Given the description of an element on the screen output the (x, y) to click on. 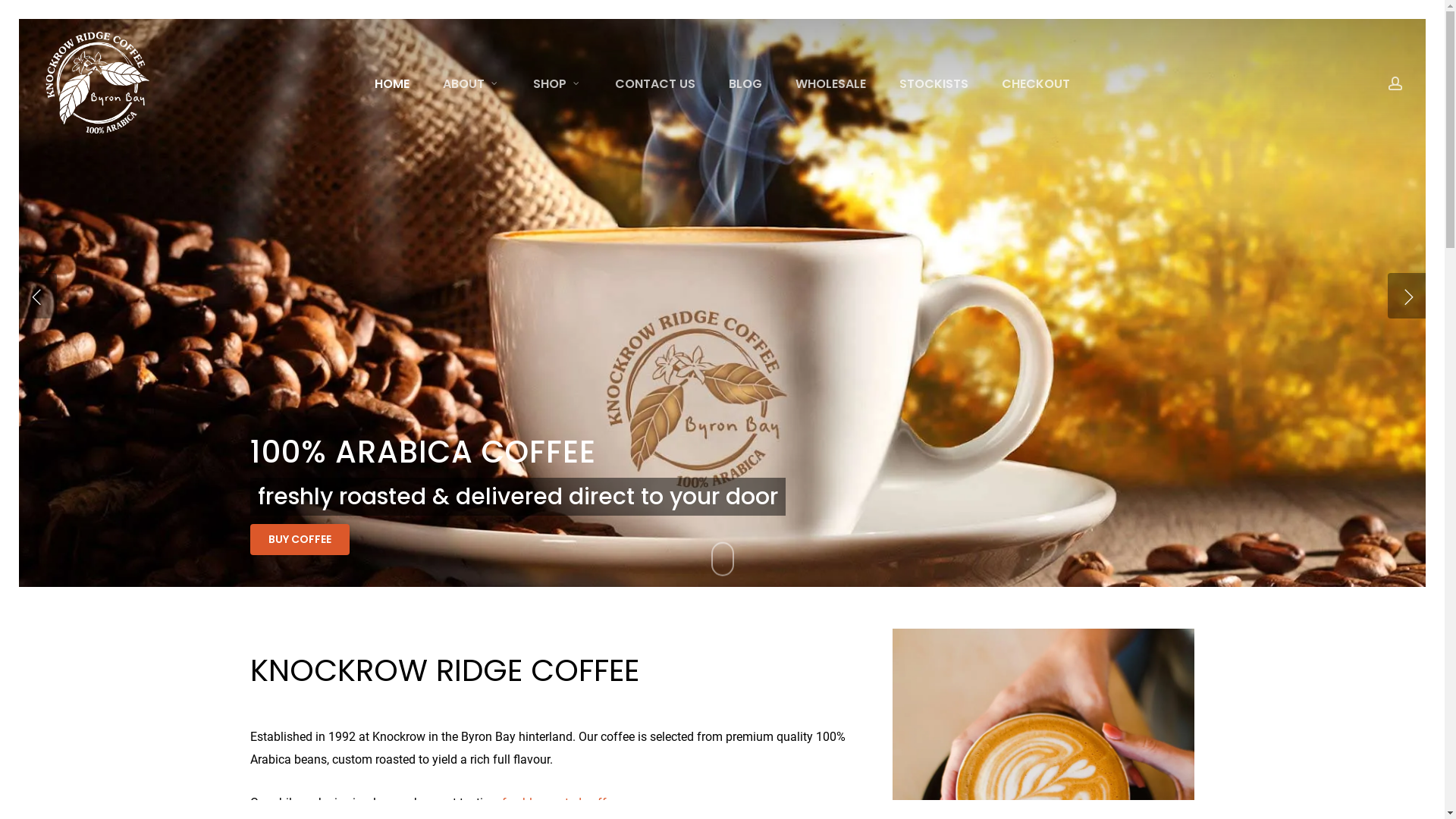
HOME Element type: text (391, 83)
ABOUT Element type: text (471, 83)
account Element type: text (1395, 83)
freshly roasted coffee Element type: text (560, 802)
SHOP Element type: text (557, 83)
BLOG Element type: text (745, 83)
CONTACT US Element type: text (655, 83)
STOCKISTS Element type: text (933, 83)
0 Element type: text (1419, 90)
CHECKOUT Element type: text (1035, 83)
WHOLESALE Element type: text (830, 83)
BUY COFFEE Element type: text (721, 376)
